Given the description of an element on the screen output the (x, y) to click on. 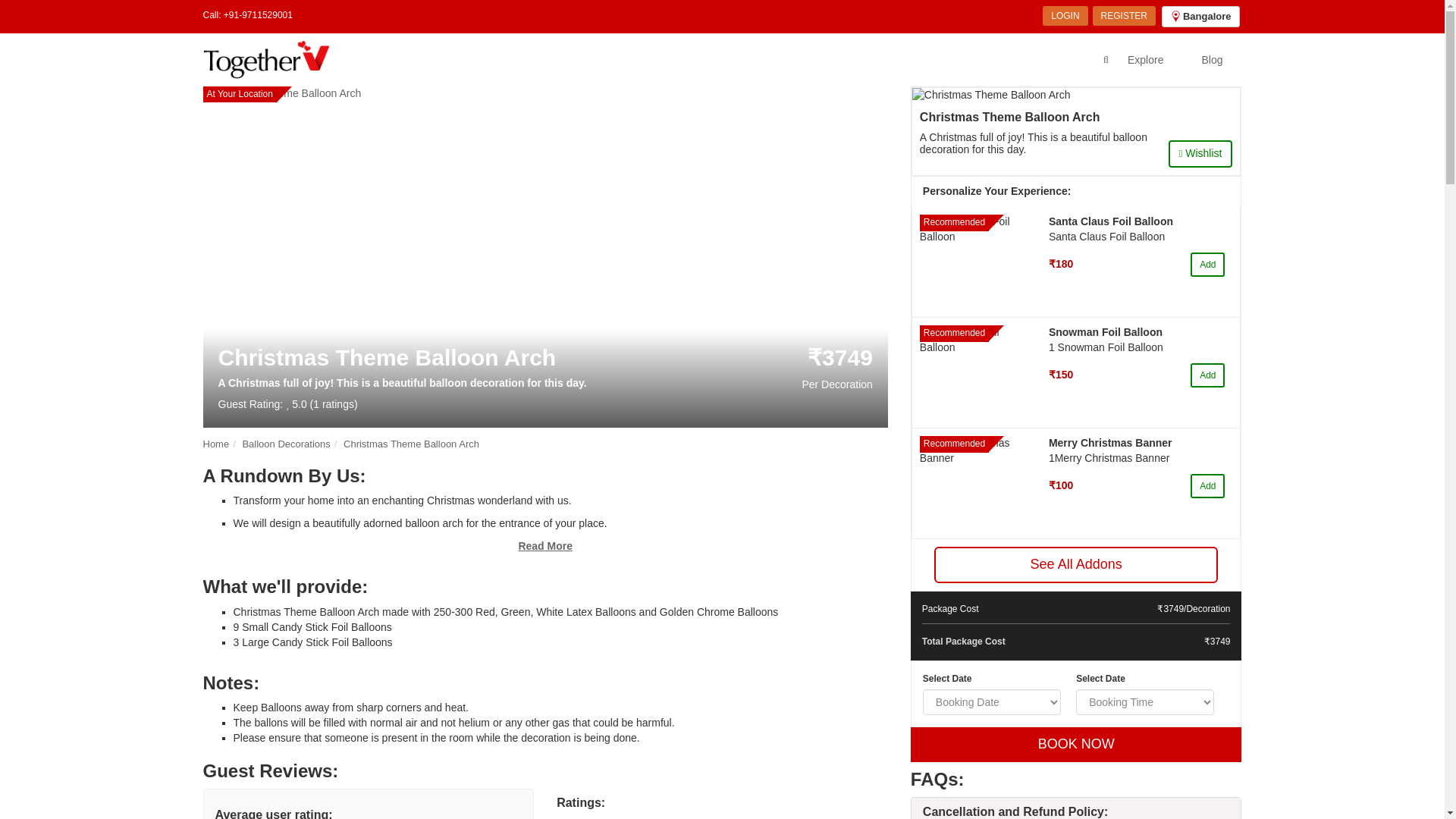
Add (1207, 375)
REGISTER (1124, 15)
Explore (1144, 59)
Balloon Decorations (285, 443)
Read More (545, 545)
Bangalore (1200, 16)
LOGIN (1064, 15)
Wishlist (1201, 153)
Add (1207, 264)
Home (216, 443)
Christmas Theme Balloon Arch (411, 443)
Add (1207, 485)
Blog (1212, 59)
